Given the description of an element on the screen output the (x, y) to click on. 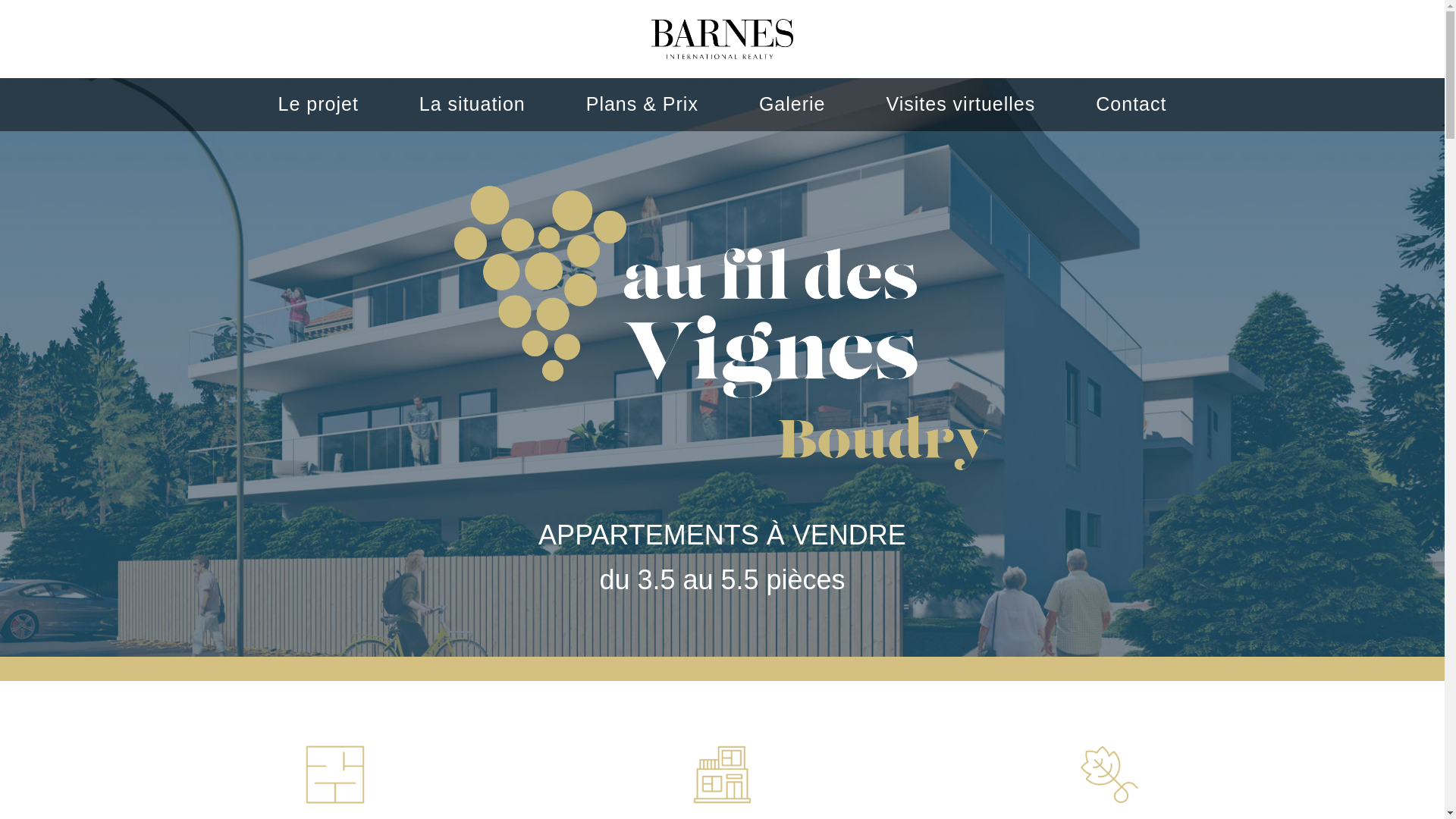
Boudry - Au fil des Vignes Element type: hover (721, 38)
La situation Element type: text (472, 103)
Contact Element type: text (1130, 103)
Le projet Element type: text (318, 103)
Visites virtuelles Element type: text (960, 103)
Plans & Prix Element type: text (642, 103)
Galerie Element type: text (792, 103)
